Given the description of an element on the screen output the (x, y) to click on. 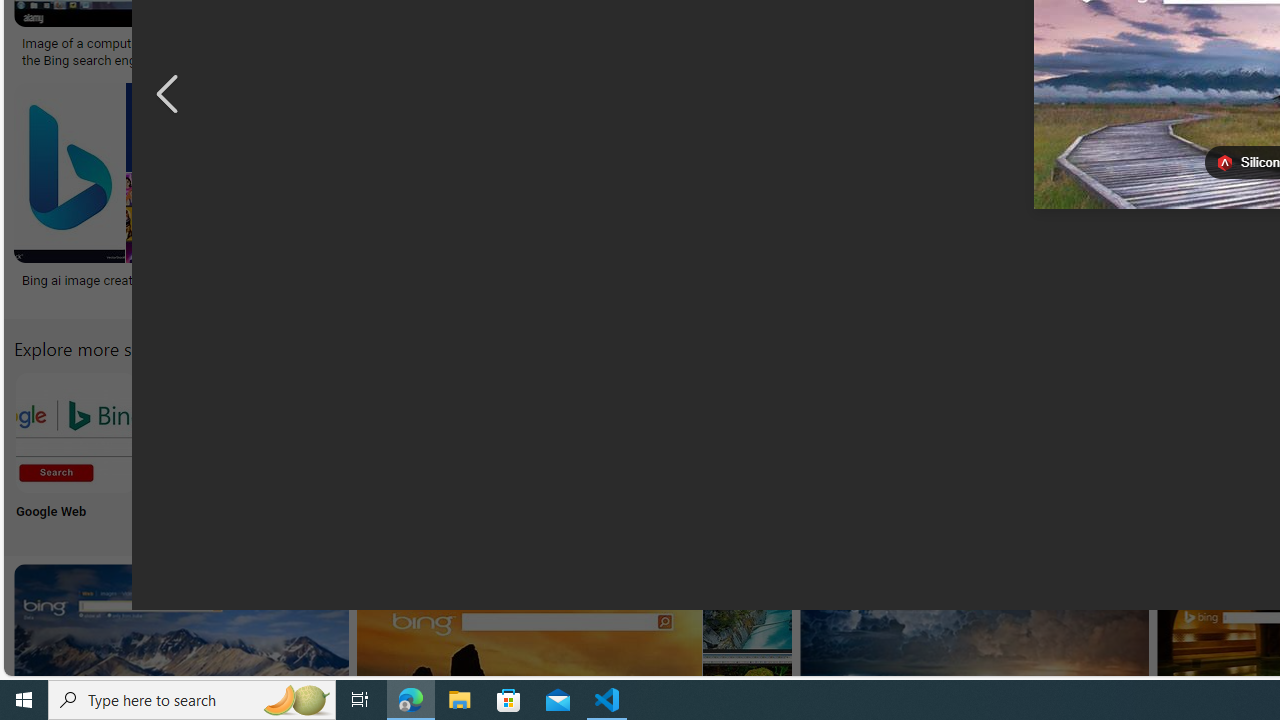
Bing Photo Search Microsoft Edge (472, 432)
FIX: Downloading proxy script message on Google ChromeSave (930, 196)
Bing People Search (999, 432)
Bing Search Results Results (1131, 450)
Bing Search Results (1131, 432)
Clip Art (867, 450)
Google Web (74, 450)
favicon (1224, 163)
Image Search Bing Engine (423, 44)
App Icon (735, 450)
Download Bing Pictures | Wallpapers.com (1075, 44)
FIX: Downloading proxy script message on Google Chrome (927, 287)
Bing Search App Logo (207, 432)
Bing Search App Icon (735, 432)
